Given the description of an element on the screen output the (x, y) to click on. 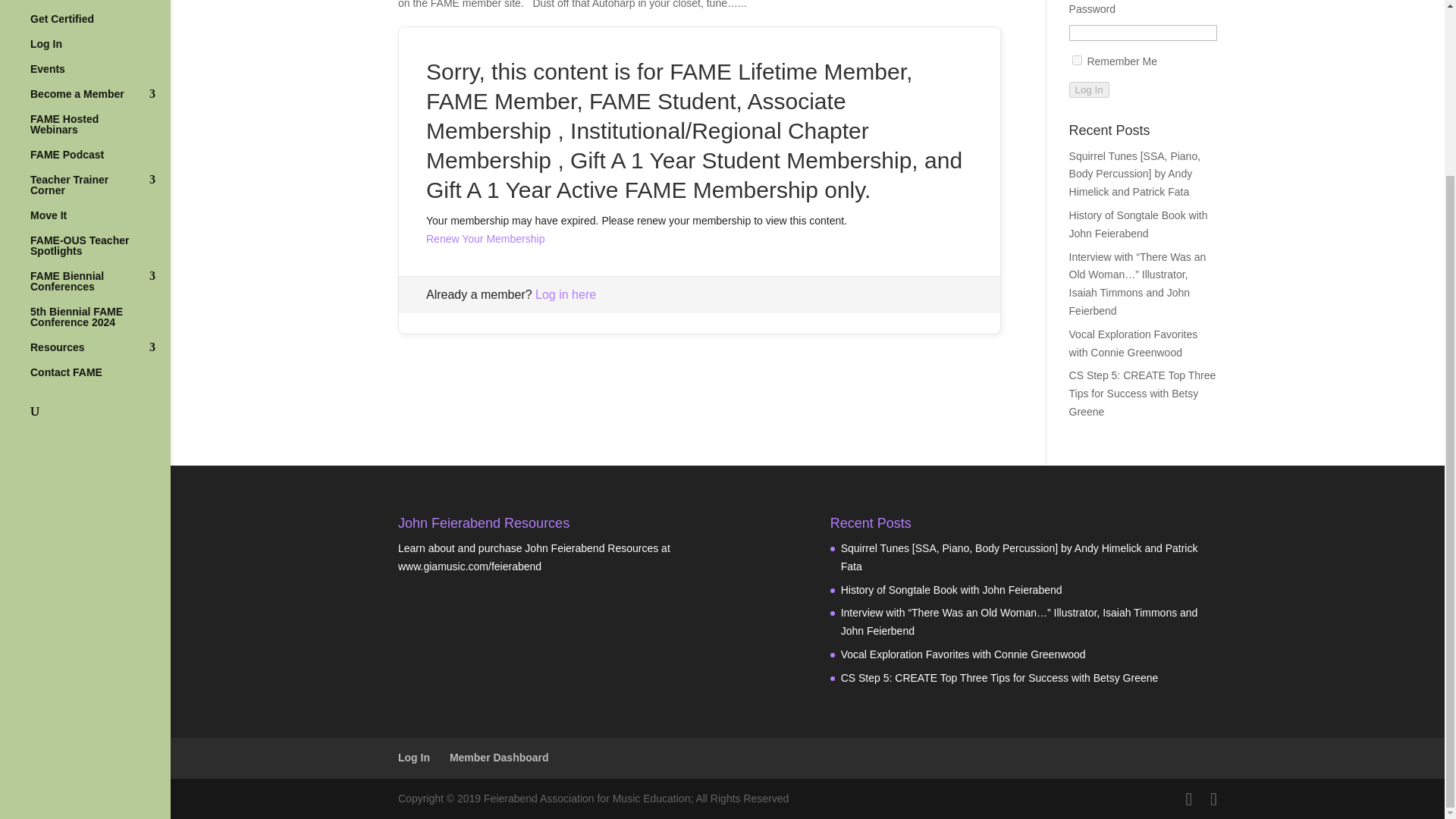
Events (100, 75)
FAME-OUS Teacher Spotlights (100, 253)
Teacher Trainer Corner (100, 191)
FAME Biennial Conferences (100, 288)
Get Certified (100, 25)
forever (1076, 60)
Diversity, Equity, and Inclusion (100, 6)
FAME Hosted Webinars (100, 131)
Move It (100, 222)
Become a Member (100, 100)
